Given the description of an element on the screen output the (x, y) to click on. 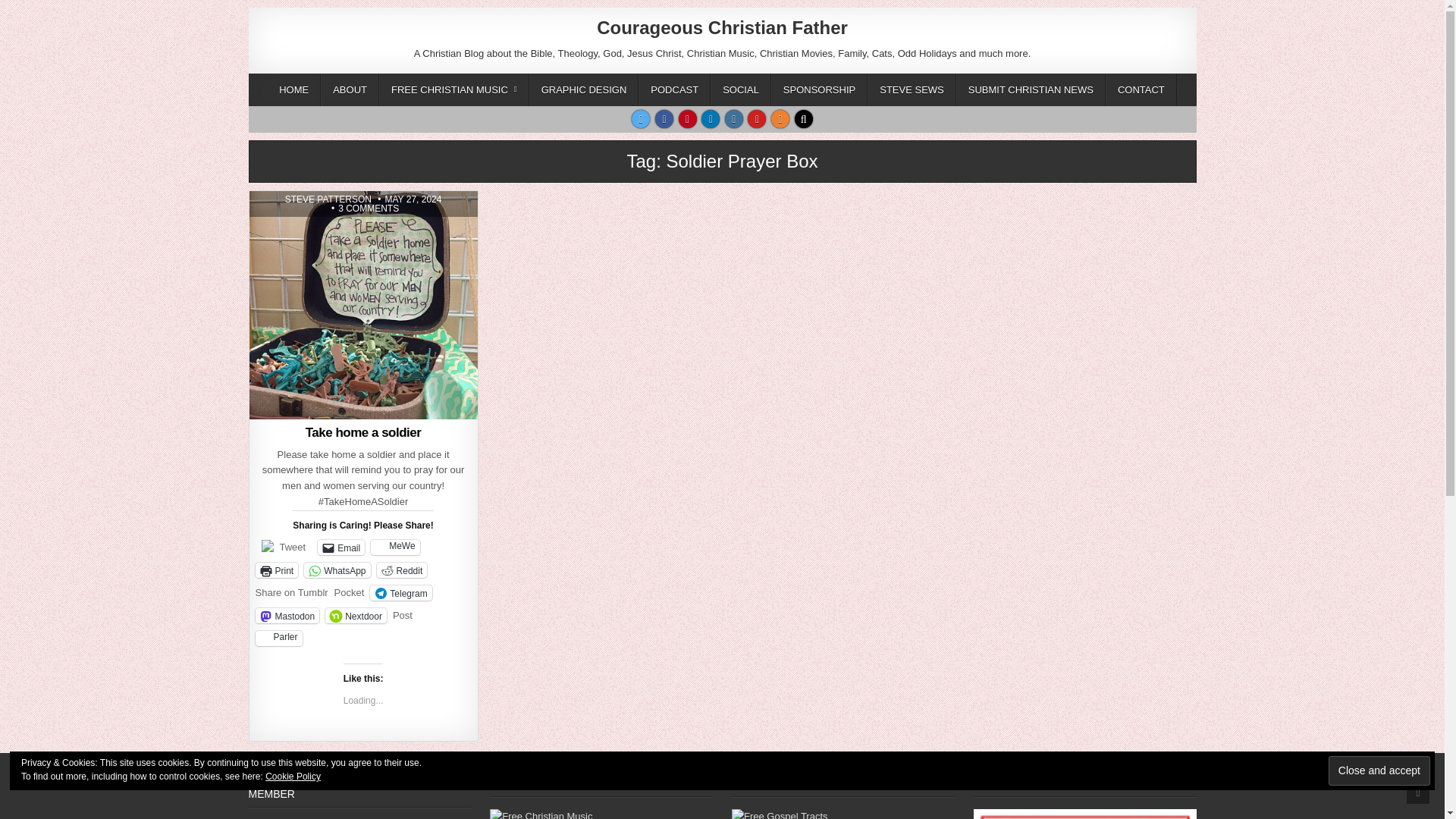
ABOUT (349, 89)
SOCIAL (740, 89)
Click to share on Reddit (402, 570)
FREE CHRISTIAN MUSIC (453, 89)
Instagram (733, 118)
PODCAST (674, 89)
GRAPHIC DESIGN (584, 89)
STEVE SEWS (911, 89)
Tweet (292, 546)
Permanent Link to Take home a soldier (362, 304)
